Given the description of an element on the screen output the (x, y) to click on. 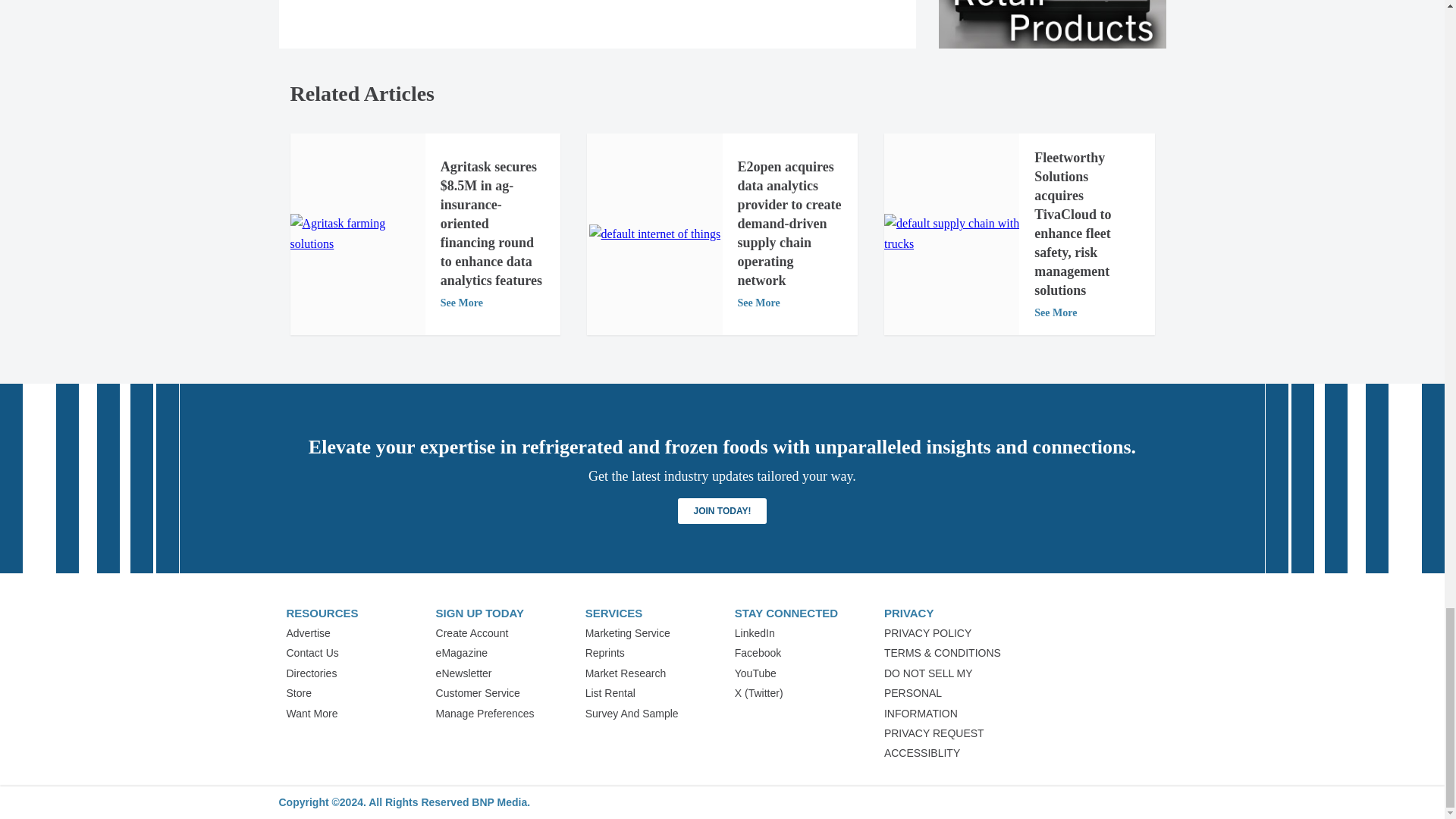
default-internet-of-things-feature.jpg (654, 234)
